Given the description of an element on the screen output the (x, y) to click on. 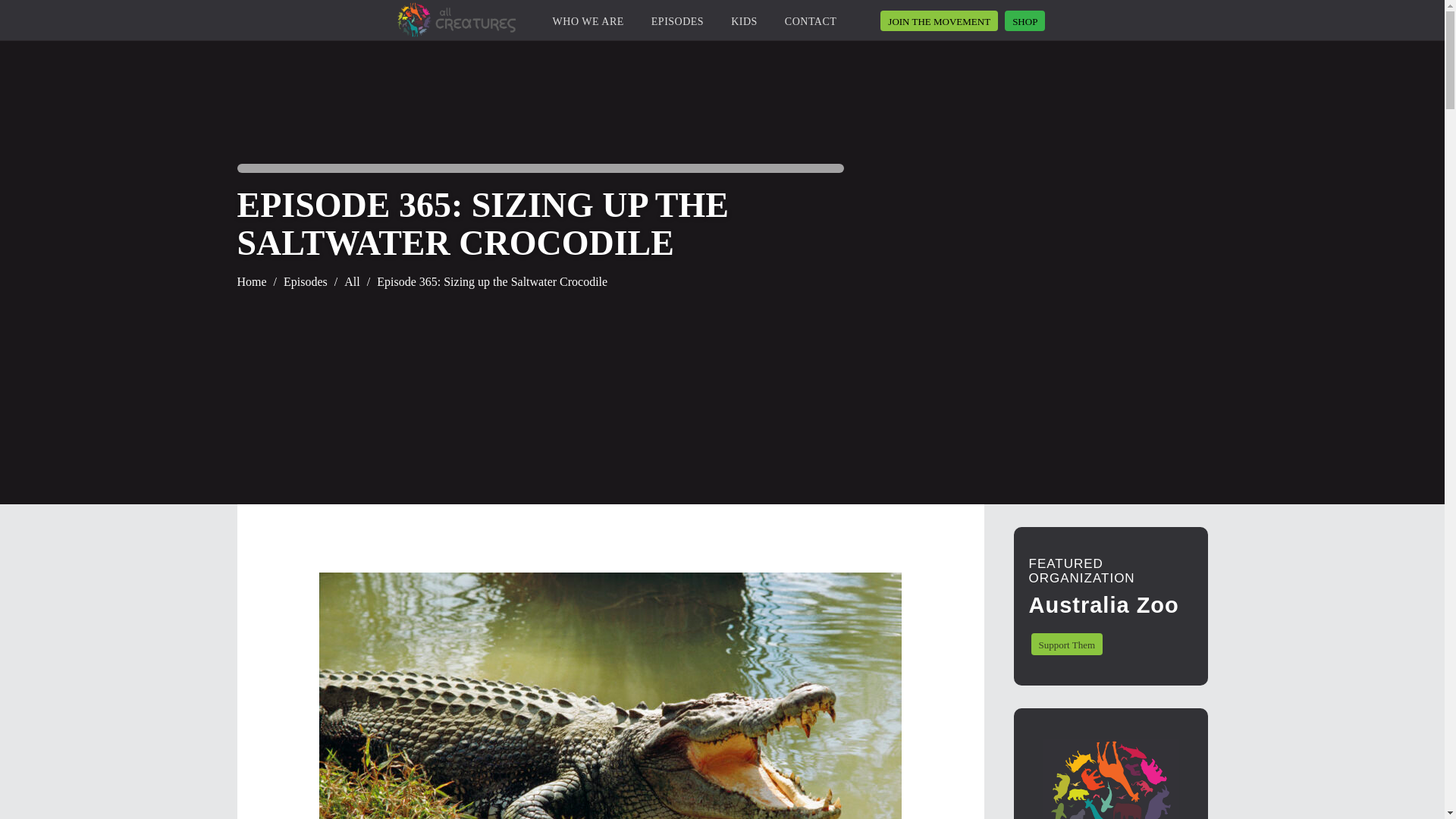
patreon (938, 20)
All (351, 282)
shop (1024, 20)
WHO WE ARE (588, 23)
Go to the All Episode Categories archives. (351, 282)
Episodes (305, 282)
EPISODES (676, 23)
Support Them (1066, 644)
CONTACT (810, 23)
KIDS (743, 23)
